Given the description of an element on the screen output the (x, y) to click on. 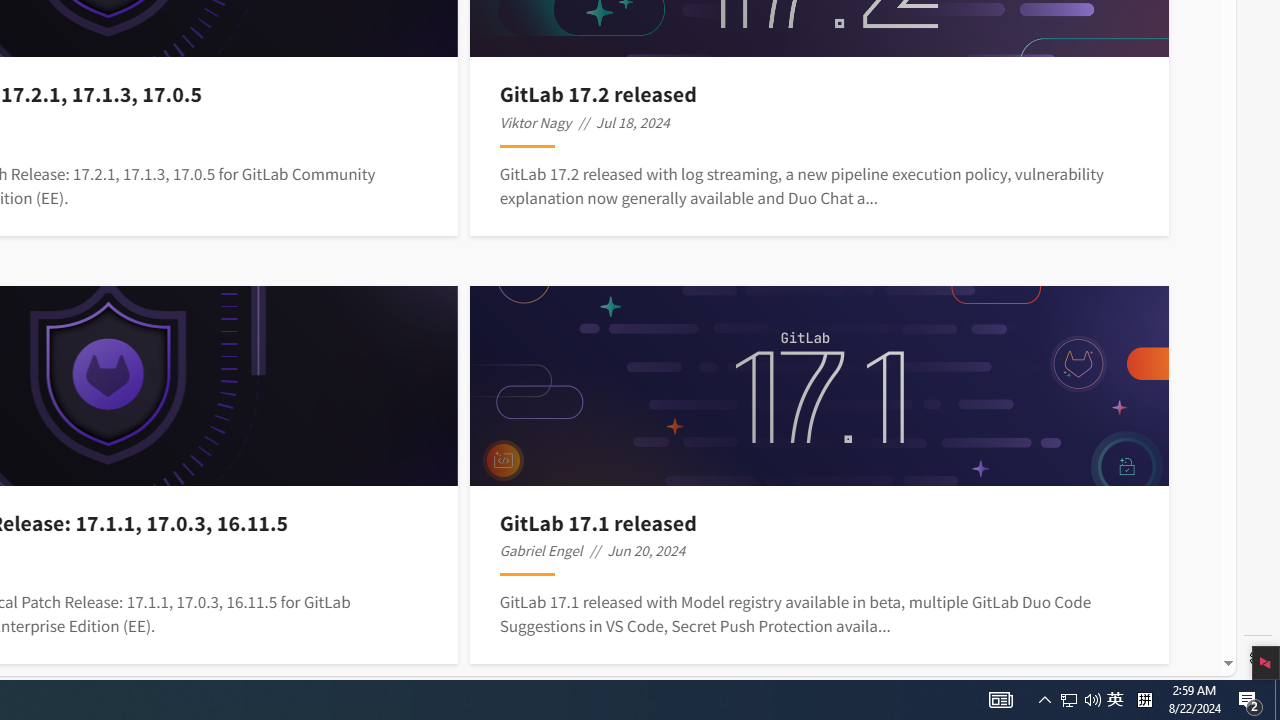
GitLab 17.2 released (819, 93)
GitLab 17.1 released (819, 522)
Gabriel Engel (540, 550)
Post Image (818, 385)
Post Image (818, 385)
Viktor Nagy (535, 121)
